Given the description of an element on the screen output the (x, y) to click on. 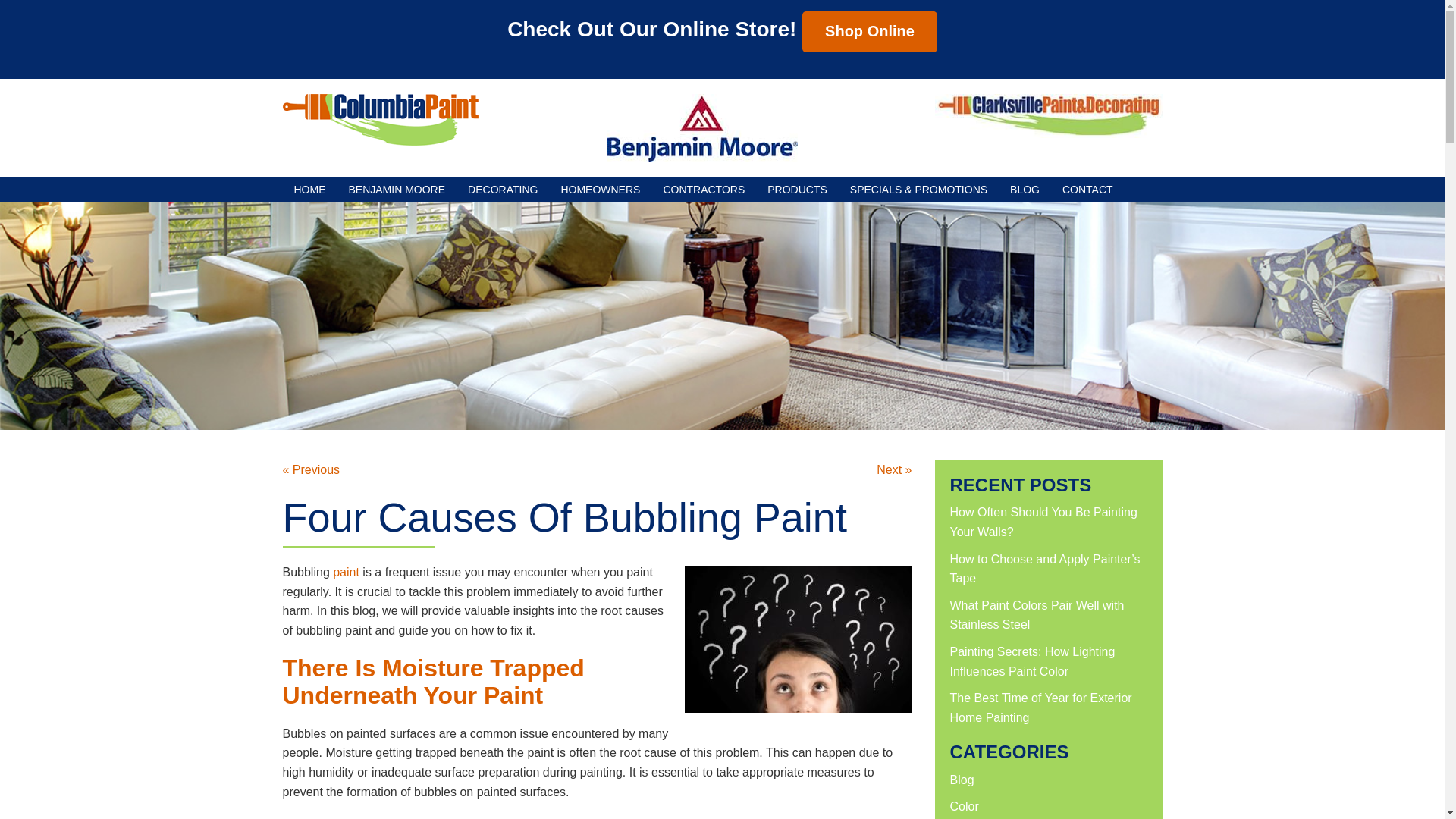
Painting Secrets: How Lighting Influences Paint Color (1032, 661)
Shop Online (869, 31)
paint (346, 571)
What Paint Colors Pair Well with Stainless Steel (1036, 614)
PRODUCTS (796, 189)
HOME (309, 189)
Benjamin Moore Paint (701, 127)
How Often Should You Be Painting Your Walls? (1043, 522)
Blog (961, 779)
CONTACT (1087, 189)
The Best Time of Year for Exterior Home Painting (1040, 707)
Clarksville Paint (1047, 116)
BENJAMIN MOORE (396, 189)
DECORATING (502, 189)
CONTRACTORS (702, 189)
